Given the description of an element on the screen output the (x, y) to click on. 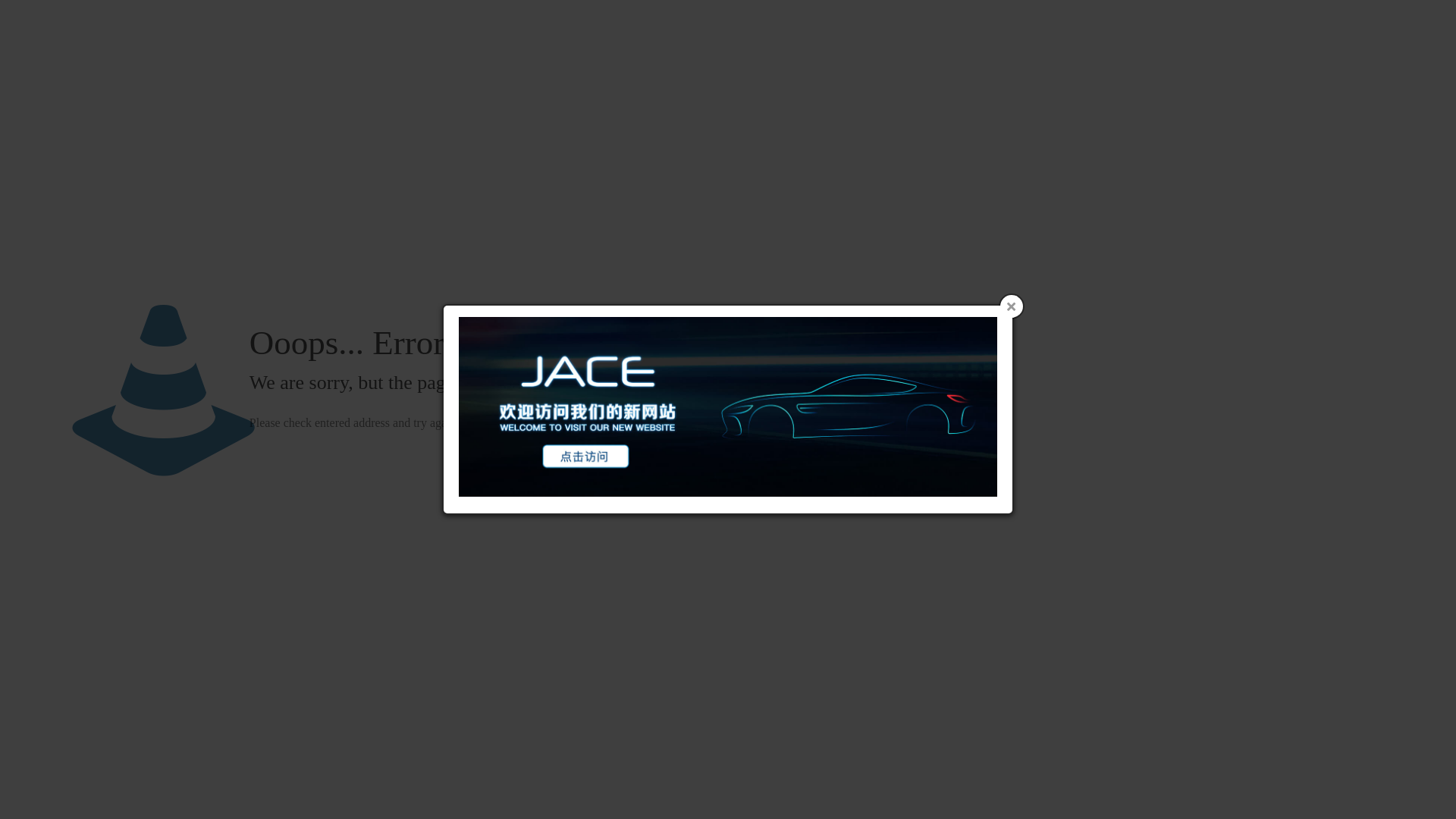
go to homepage Element type: text (533, 423)
Close Element type: hover (1011, 305)
